Given the description of an element on the screen output the (x, y) to click on. 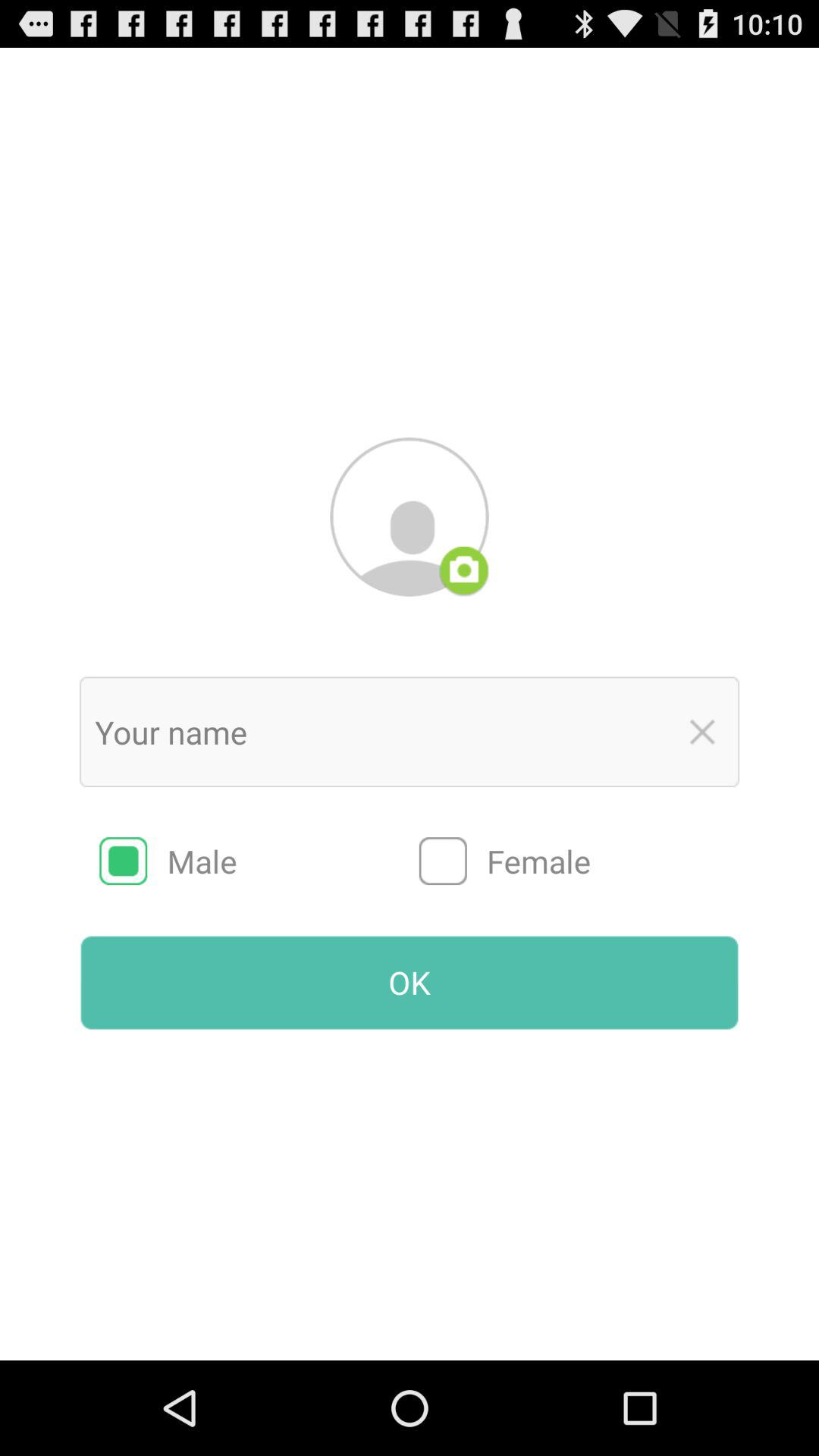
a blank image with a drawn person for adding a profile picture (409, 516)
